Given the description of an element on the screen output the (x, y) to click on. 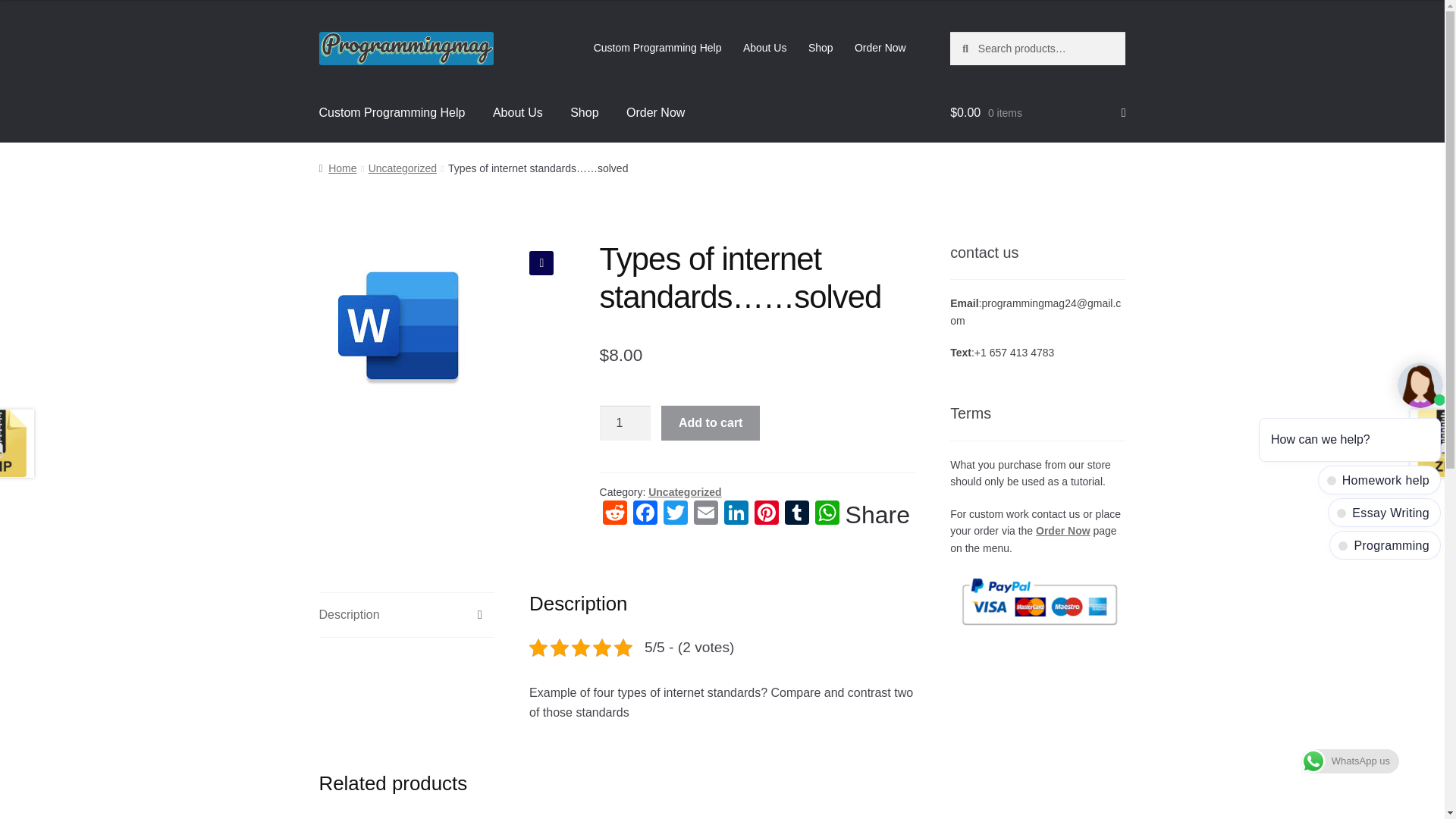
Tumblr (796, 514)
Custom Programming Help (656, 47)
Order Now (655, 112)
Facebook (645, 514)
Twitter (675, 514)
Reddit (614, 514)
1 (624, 422)
Email (705, 514)
View your shopping cart (1037, 112)
Pinterest (766, 514)
Description (406, 614)
Email (705, 514)
LinkedIn (735, 514)
Facebook (645, 514)
Uncategorized (683, 491)
